Given the description of an element on the screen output the (x, y) to click on. 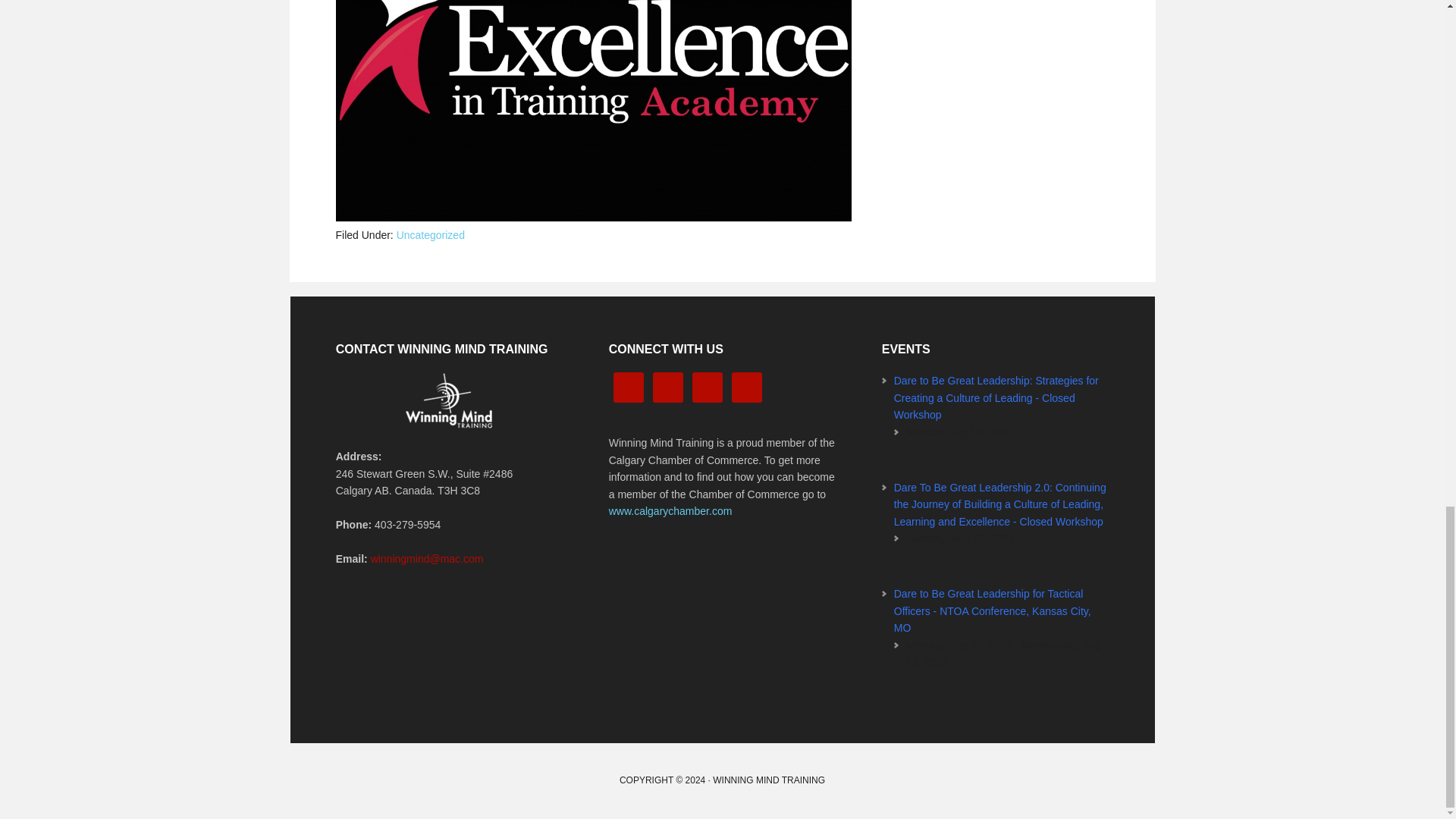
Uncategorized (430, 234)
www.calgarychamber.com (670, 510)
